Given the description of an element on the screen output the (x, y) to click on. 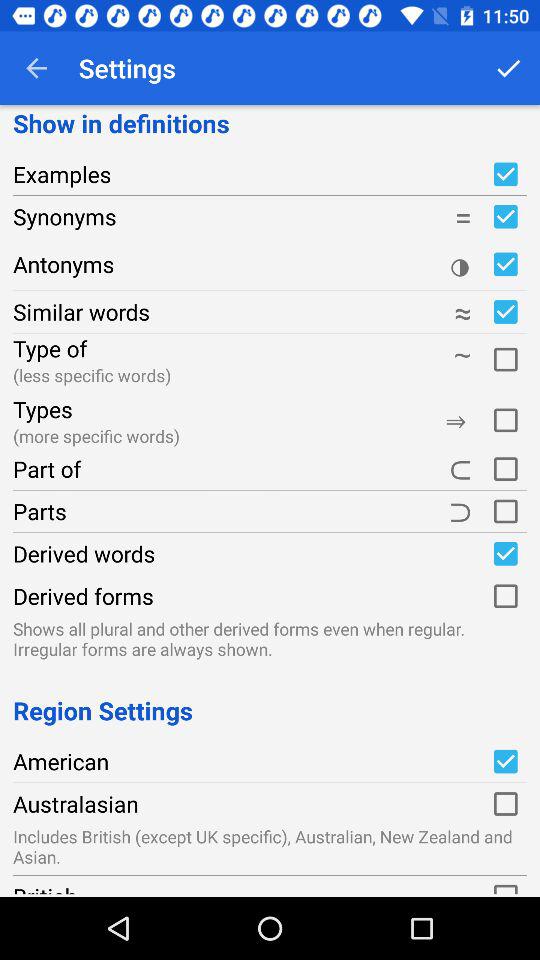
select this option (505, 469)
